Given the description of an element on the screen output the (x, y) to click on. 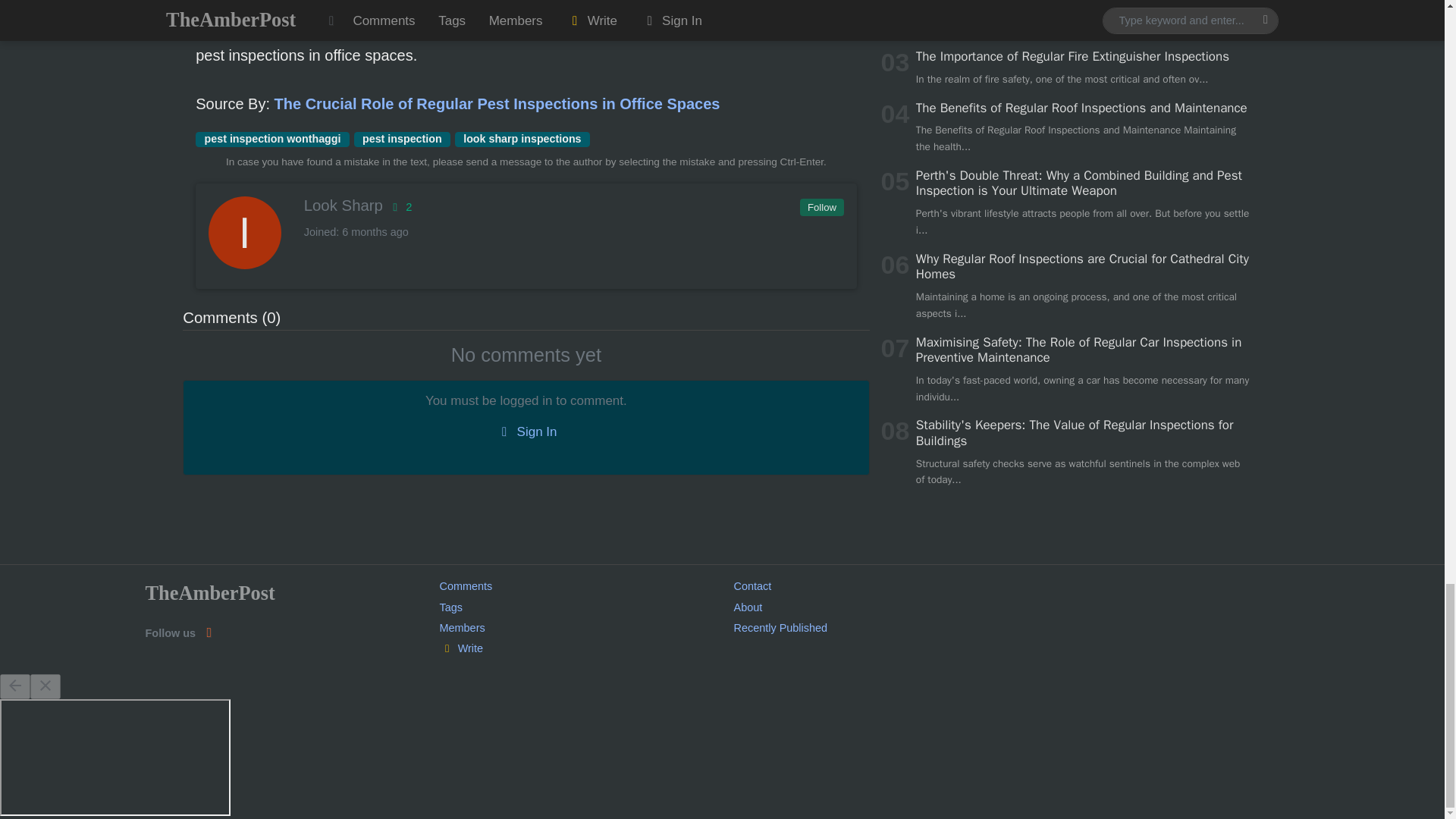
look sharp inspections (521, 139)
look sharp inspections (521, 139)
pest inspection wonthaggi (272, 139)
pest inspection (401, 139)
pest inspection wonthaggi (272, 139)
Rating (399, 206)
Follow (821, 208)
pest inspection (401, 139)
